Given the description of an element on the screen output the (x, y) to click on. 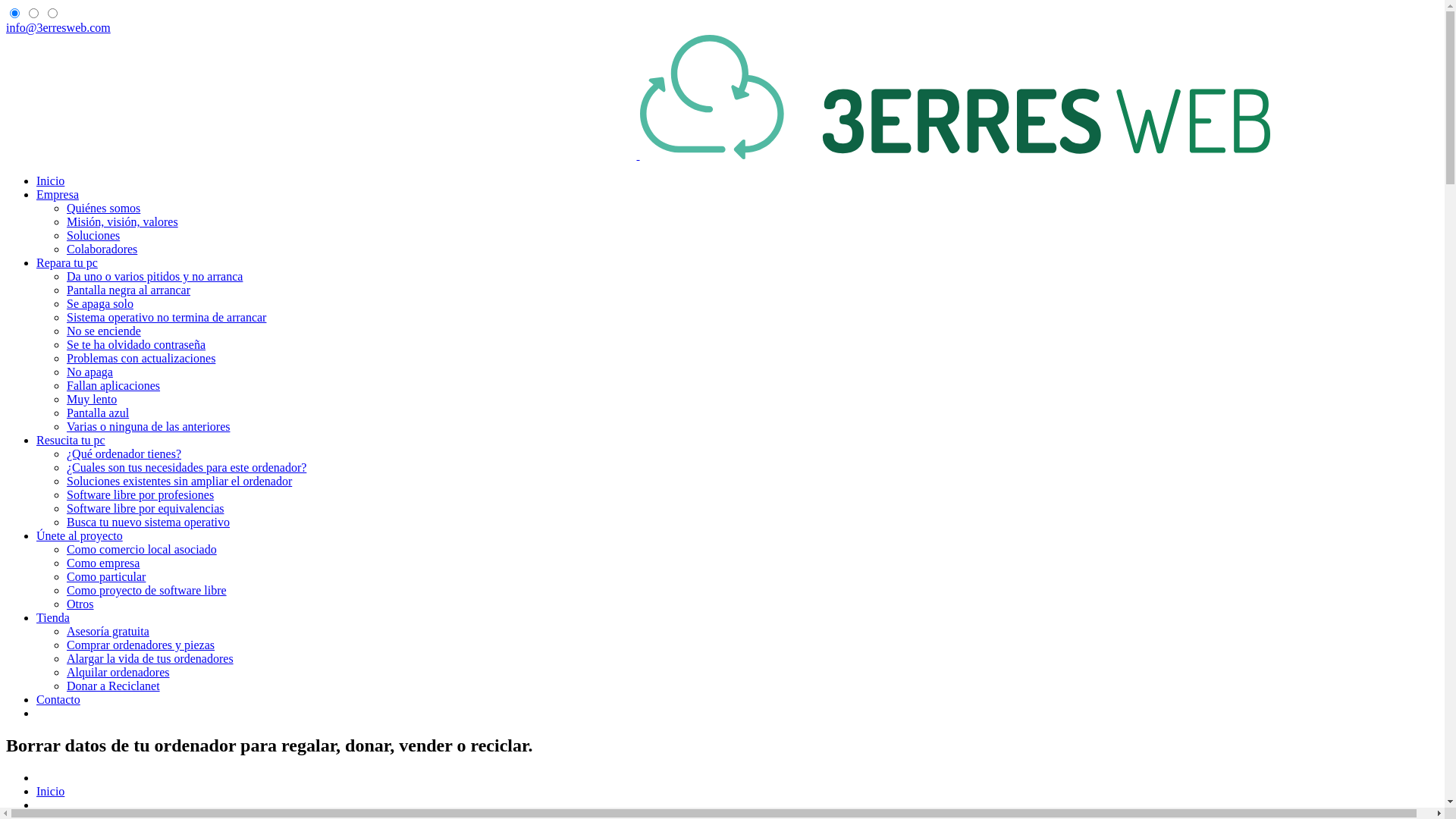
Como proyecto de software libre Element type: text (146, 589)
Sistema operativo no termina de arrancar Element type: text (166, 316)
Da uno o varios pitidos y no arranca Element type: text (154, 275)
Busca tu nuevo sistema operativo Element type: text (147, 521)
Varias o ninguna de las anteriores Element type: text (147, 426)
Pantalla azul Element type: text (97, 412)
Software libre por profesiones Element type: text (139, 494)
Repara tu pc Element type: text (66, 262)
Contacto Element type: text (58, 699)
Otros Element type: text (80, 603)
Donar a Reciclanet Element type: text (113, 685)
Inicio Element type: text (50, 180)
Soluciones Element type: text (92, 235)
Empresa Element type: text (57, 194)
Pantalla negra al arrancar Element type: text (128, 289)
info@3erresweb.com Element type: text (58, 27)
Colaboradores Element type: text (101, 248)
Software libre por equivalencias Element type: text (144, 508)
Tienda Element type: text (52, 617)
Se apaga solo Element type: text (99, 303)
No se enciende Element type: text (103, 330)
Muy lento Element type: text (91, 398)
Como comercio local asociado Element type: text (141, 548)
Fallan aplicaciones Element type: text (113, 385)
Alargar la vida de tus ordenadores Element type: text (149, 658)
Comprar ordenadores y piezas Element type: text (140, 644)
Problemas con actualizaciones Element type: text (140, 357)
No apaga Element type: text (89, 371)
Soluciones existentes sin ampliar el ordenador Element type: text (178, 480)
Resucita tu pc Element type: text (70, 439)
Inicio Element type: text (50, 790)
Alquilar ordenadores Element type: text (117, 671)
Como empresa Element type: text (102, 562)
Como particular Element type: text (105, 576)
